Given the description of an element on the screen output the (x, y) to click on. 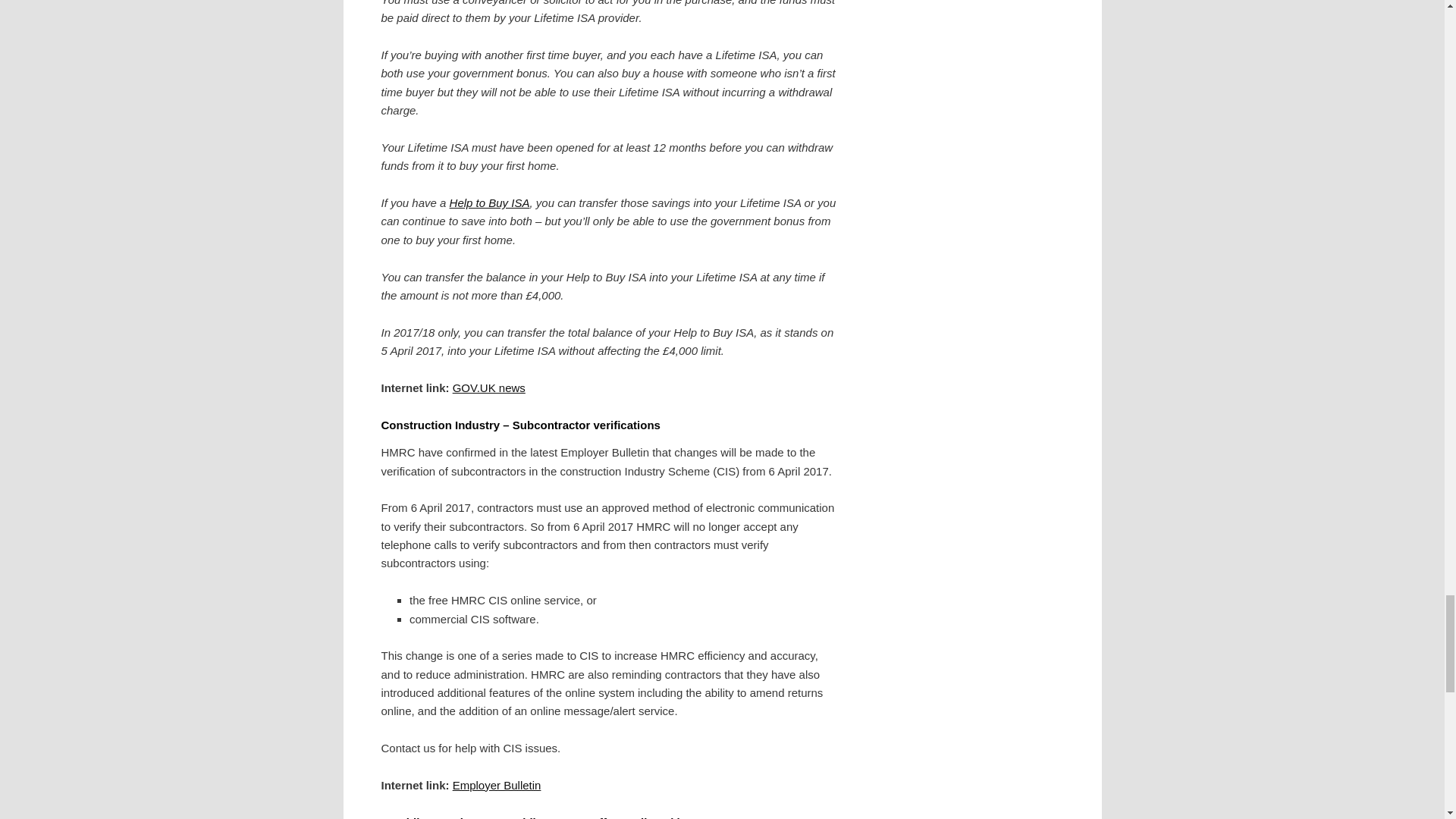
Help to Buy ISA (489, 202)
GOV.UK news (488, 387)
Employer Bulletin (496, 784)
